Given the description of an element on the screen output the (x, y) to click on. 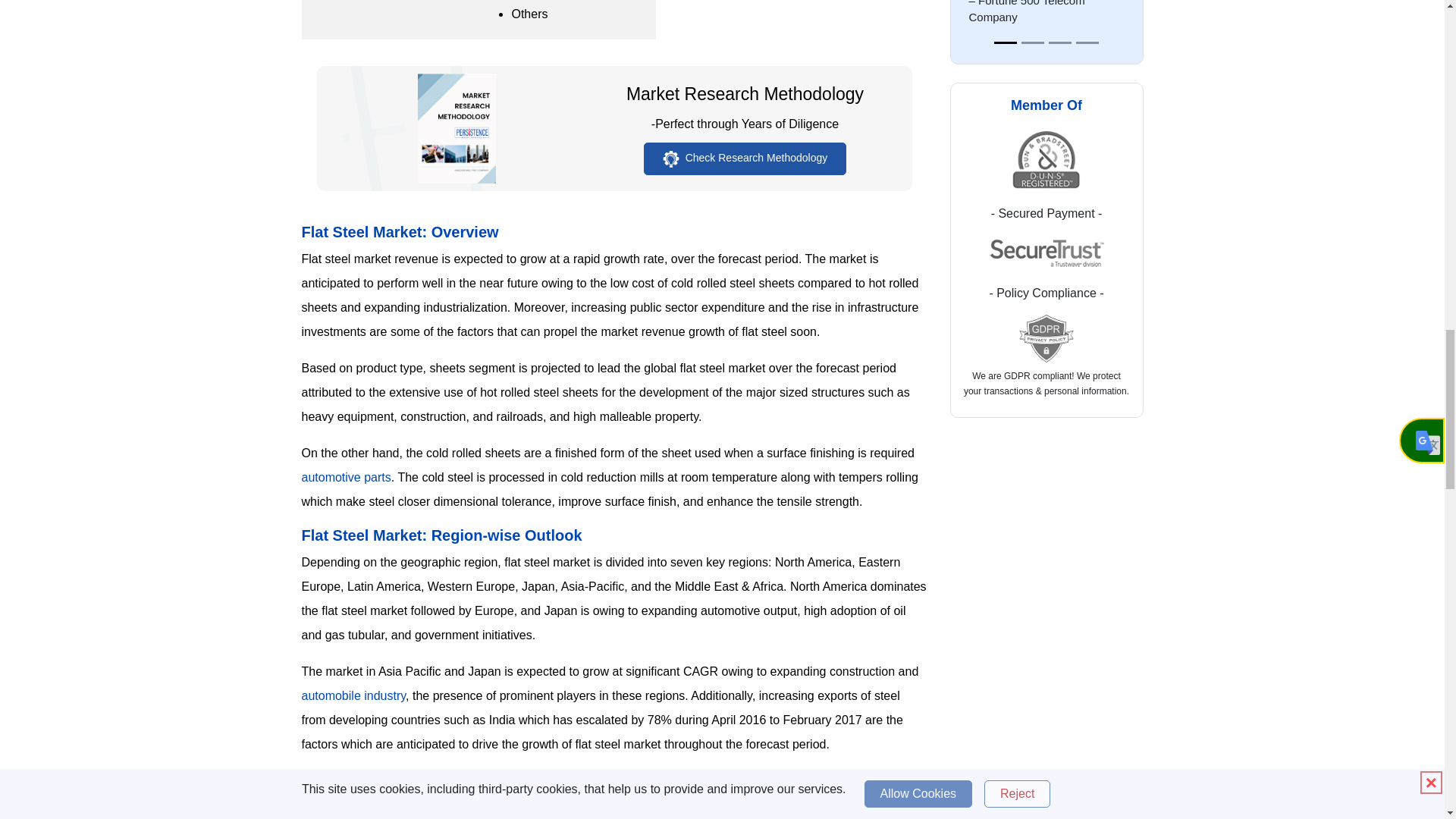
Check Research Methodology (744, 158)
automotive parts (346, 477)
automobile industry (353, 695)
